Given the description of an element on the screen output the (x, y) to click on. 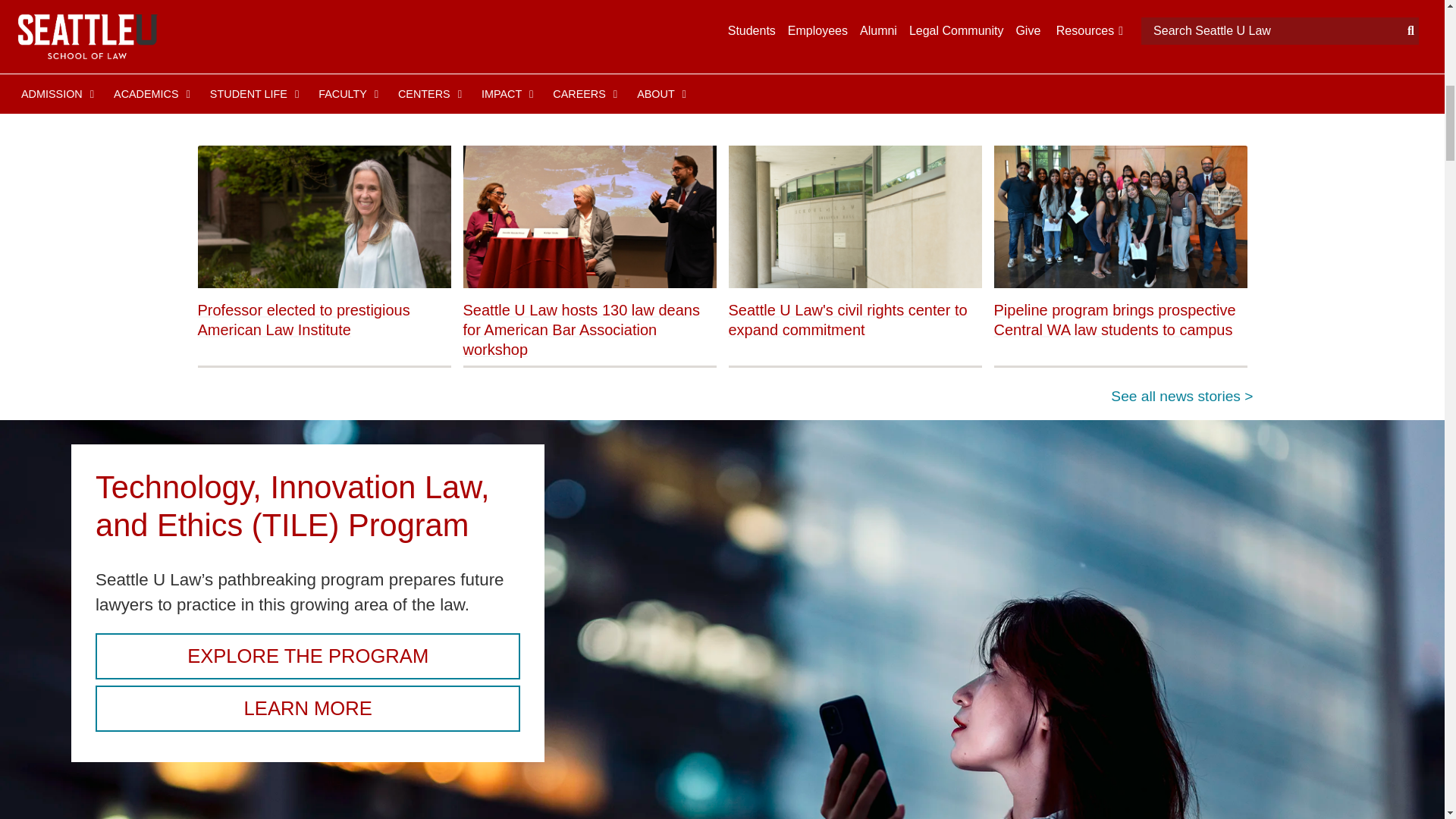
Visit the Law News Center (1181, 396)
